Given the description of an element on the screen output the (x, y) to click on. 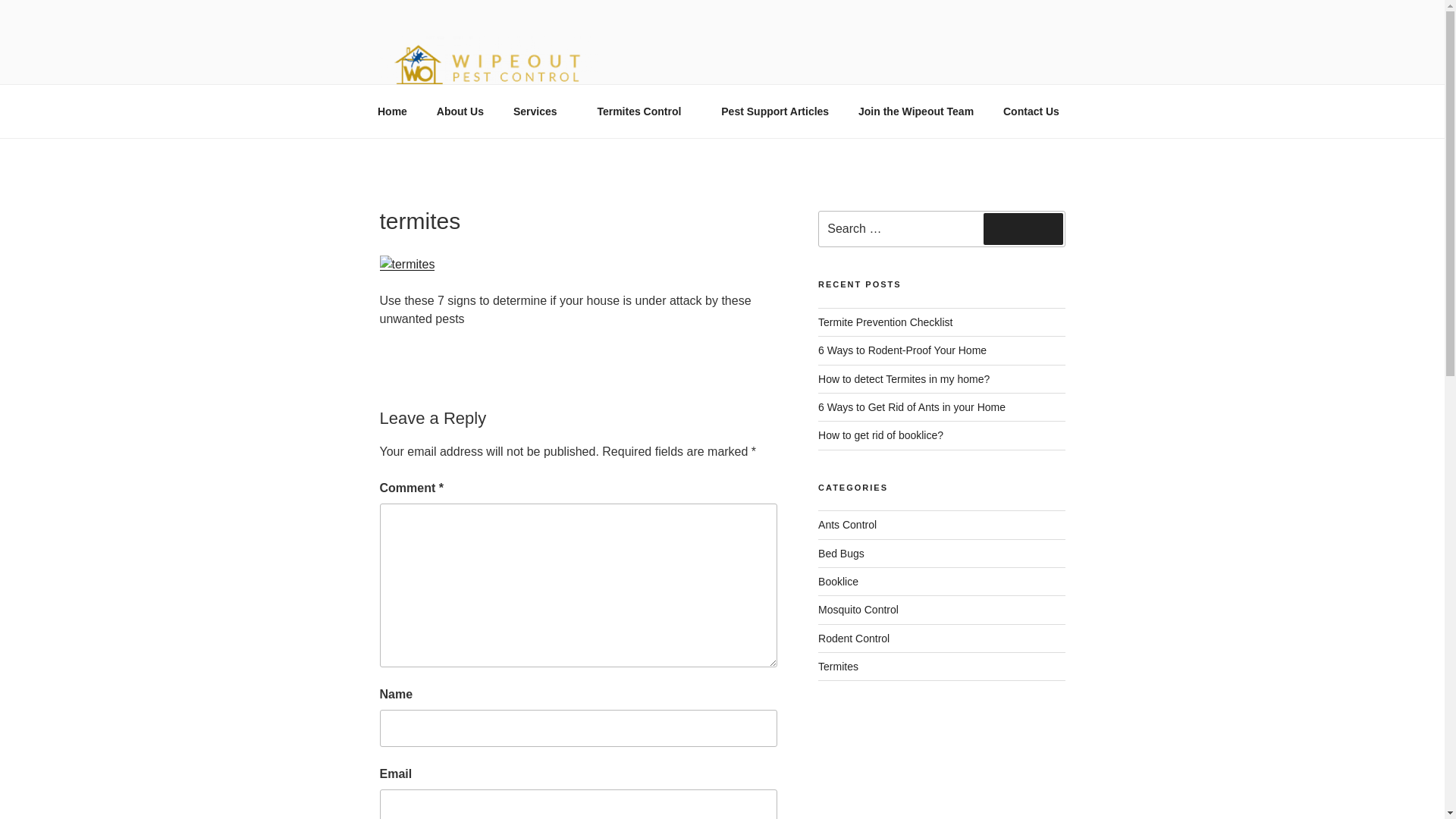
6 Ways to Get Rid of Ants in your Home (912, 407)
Home (392, 110)
Join the Wipeout Team (916, 110)
Mosquito Control (858, 609)
Search (1023, 228)
Bed Bugs (841, 553)
6 Ways to Rodent-Proof Your Home (902, 349)
Rodent Control (853, 638)
Termites Control (643, 110)
Ants Control (847, 524)
